Given the description of an element on the screen output the (x, y) to click on. 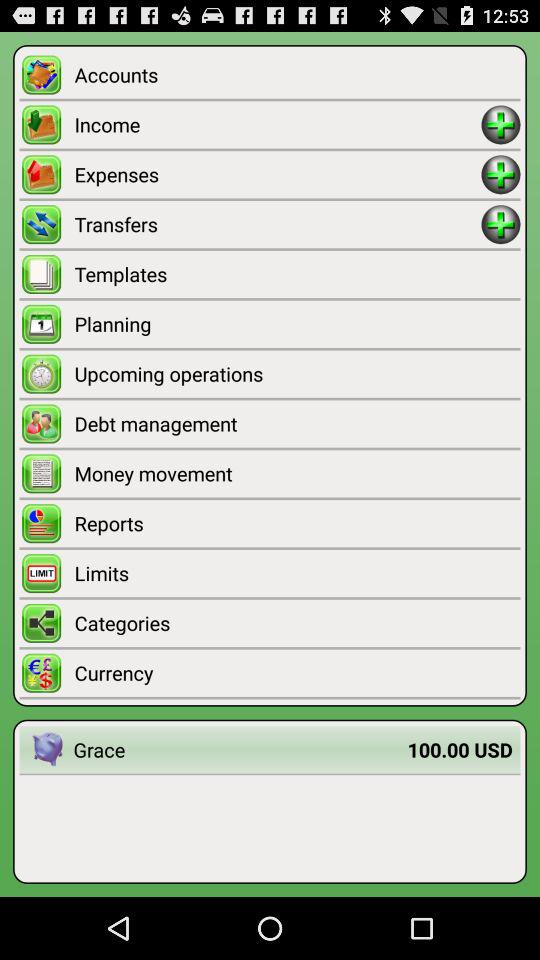
adding button (500, 124)
